Given the description of an element on the screen output the (x, y) to click on. 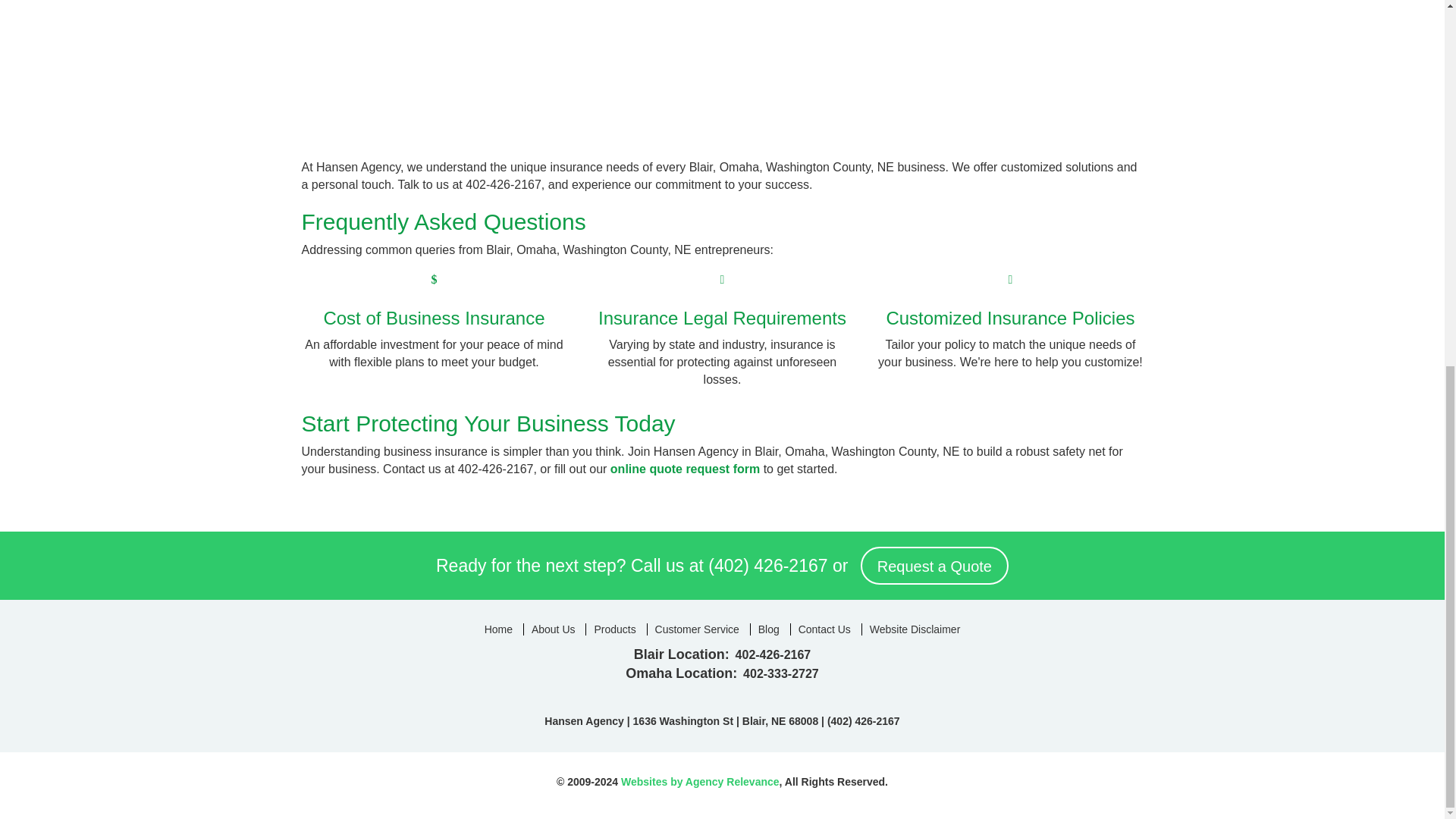
Employee Injuries (1010, 33)
Home (498, 629)
online quote request form (685, 468)
Contact Us (824, 629)
Liability Claims (722, 33)
Blog (768, 629)
Website Disclaimer (914, 629)
Request a Quote (934, 565)
Property Damage (433, 33)
Customer Service (696, 629)
